Given the description of an element on the screen output the (x, y) to click on. 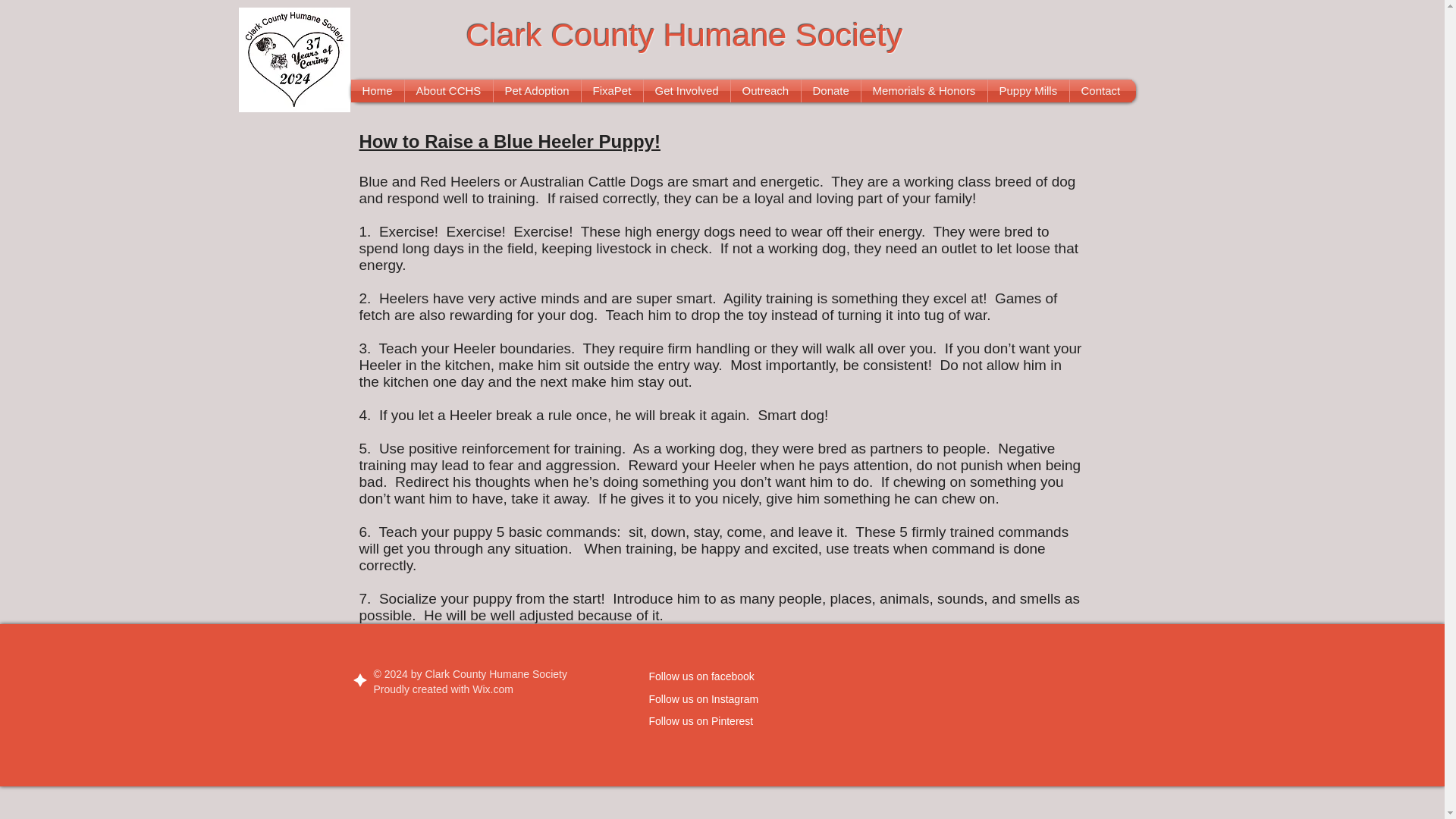
Pet Adoption (536, 90)
FixaPet (611, 90)
Get Involved (686, 90)
About CCHS (448, 90)
Home (376, 90)
Outreach (765, 90)
Donate (830, 90)
